Given the description of an element on the screen output the (x, y) to click on. 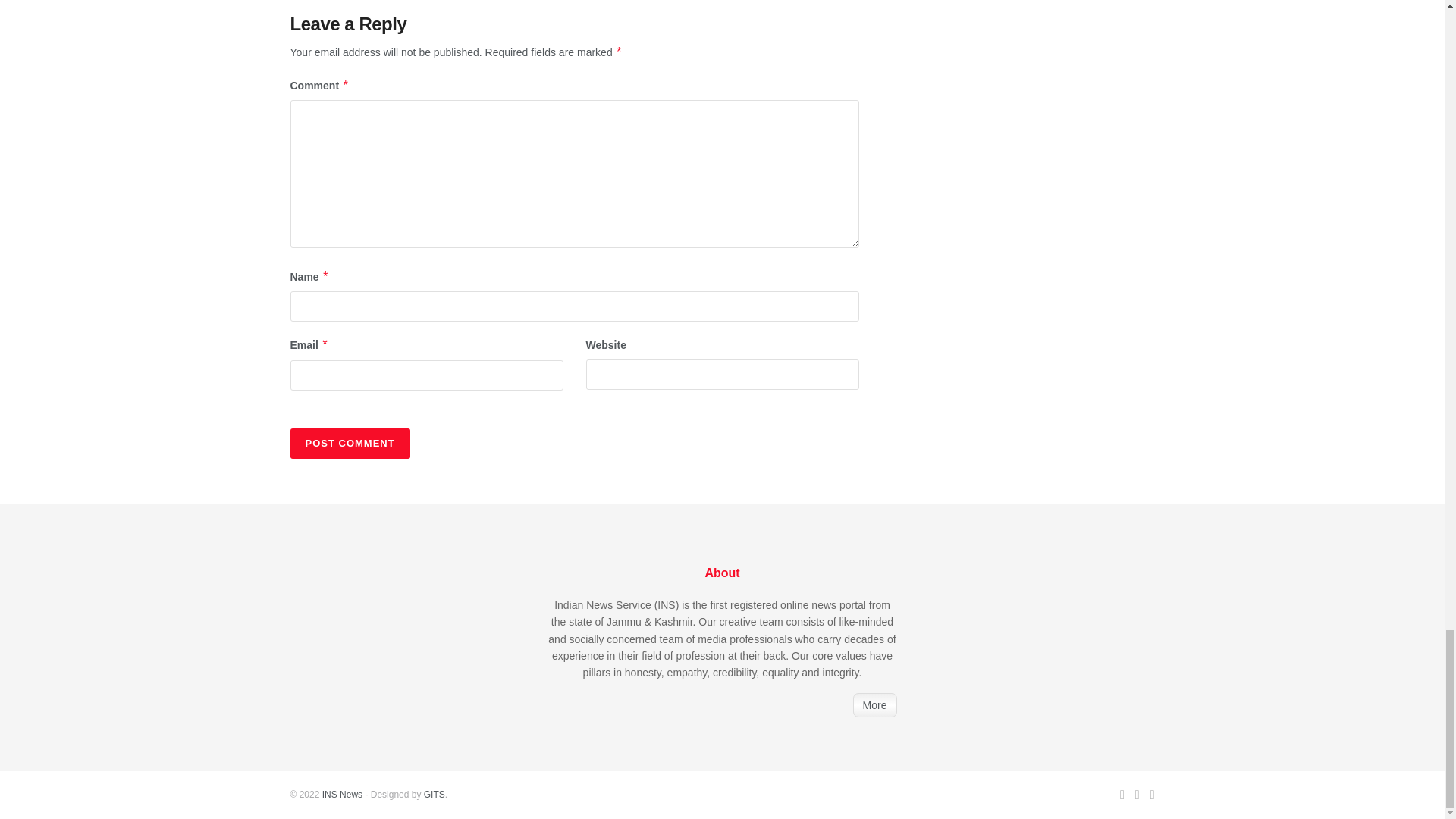
Gabfire It Solutions (434, 794)
The INS News (341, 794)
Post Comment (349, 443)
